Given the description of an element on the screen output the (x, y) to click on. 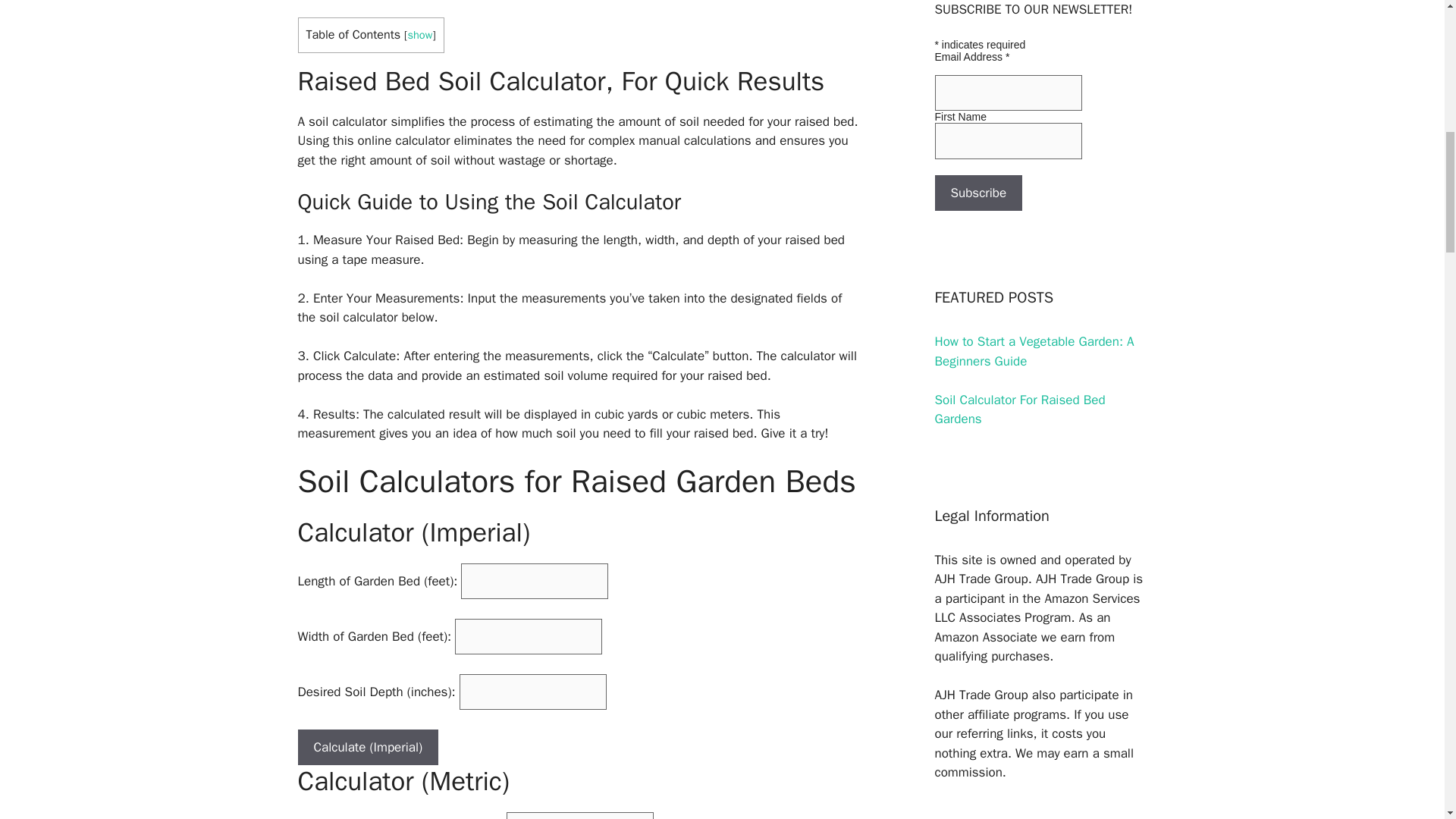
Subscribe (978, 192)
